Given the description of an element on the screen output the (x, y) to click on. 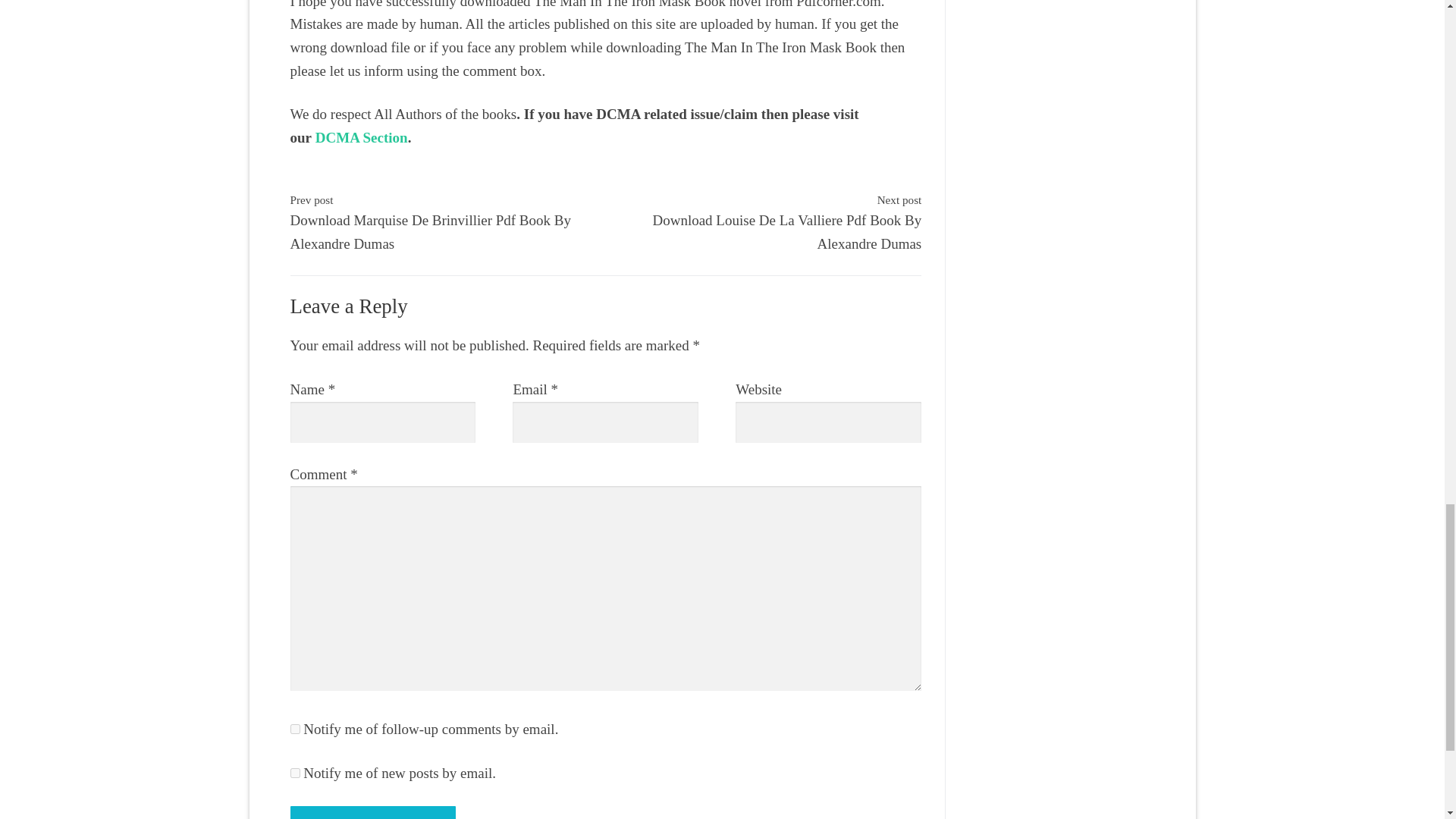
DCMA Section (361, 137)
subscribe (294, 728)
Post Comment (372, 812)
Post Comment (372, 812)
subscribe (294, 773)
